Given the description of an element on the screen output the (x, y) to click on. 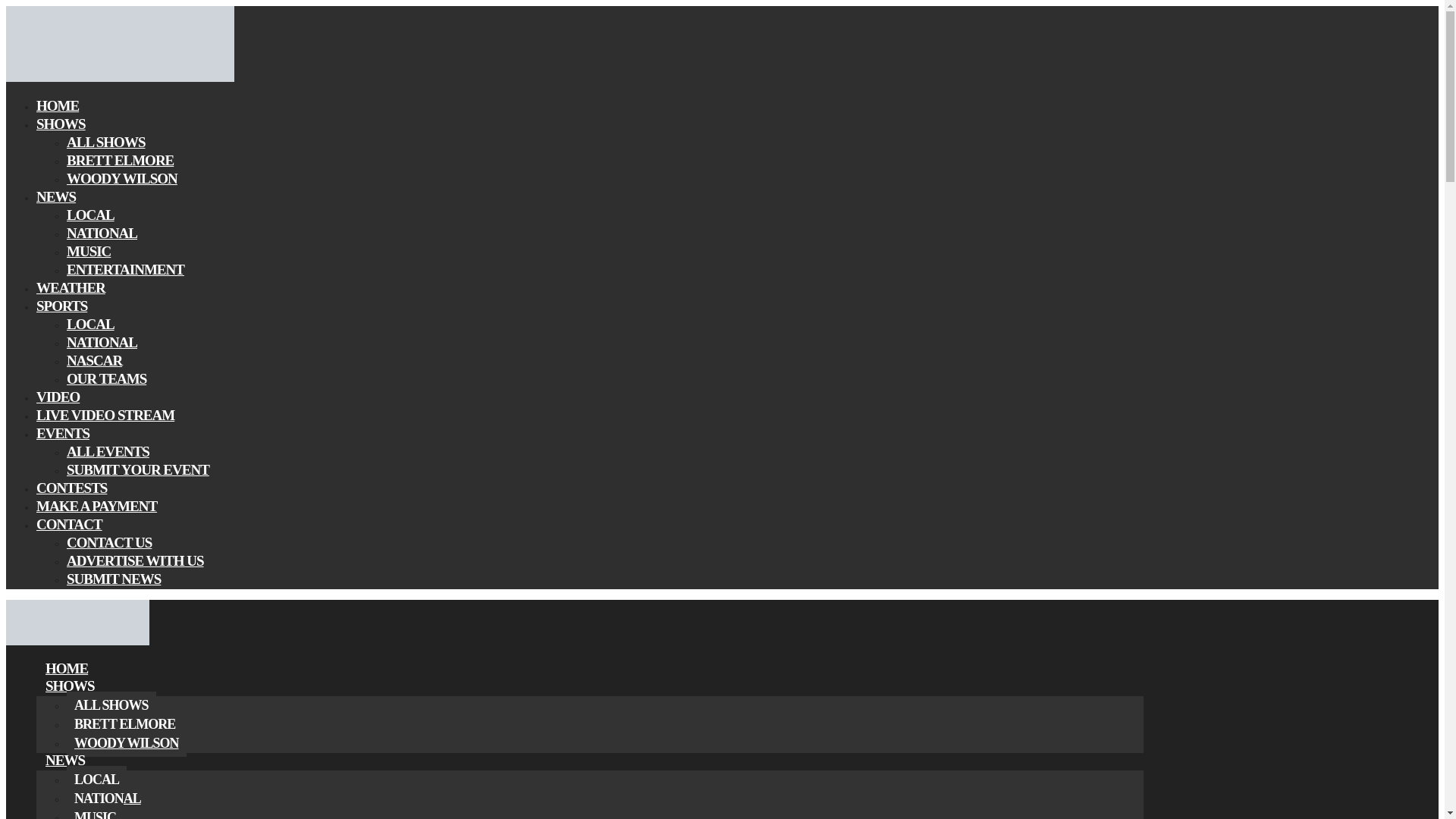
OUR TEAMS (106, 378)
SPORTS (61, 305)
LIVE VIDEO STREAM (105, 414)
HOME (57, 105)
SUBMIT YOUR EVENT (137, 469)
SUBMIT NEWS (113, 578)
BRETT ELMORE (124, 723)
CONTACT (68, 524)
HOME (66, 668)
NASCAR (94, 360)
